Given the description of an element on the screen output the (x, y) to click on. 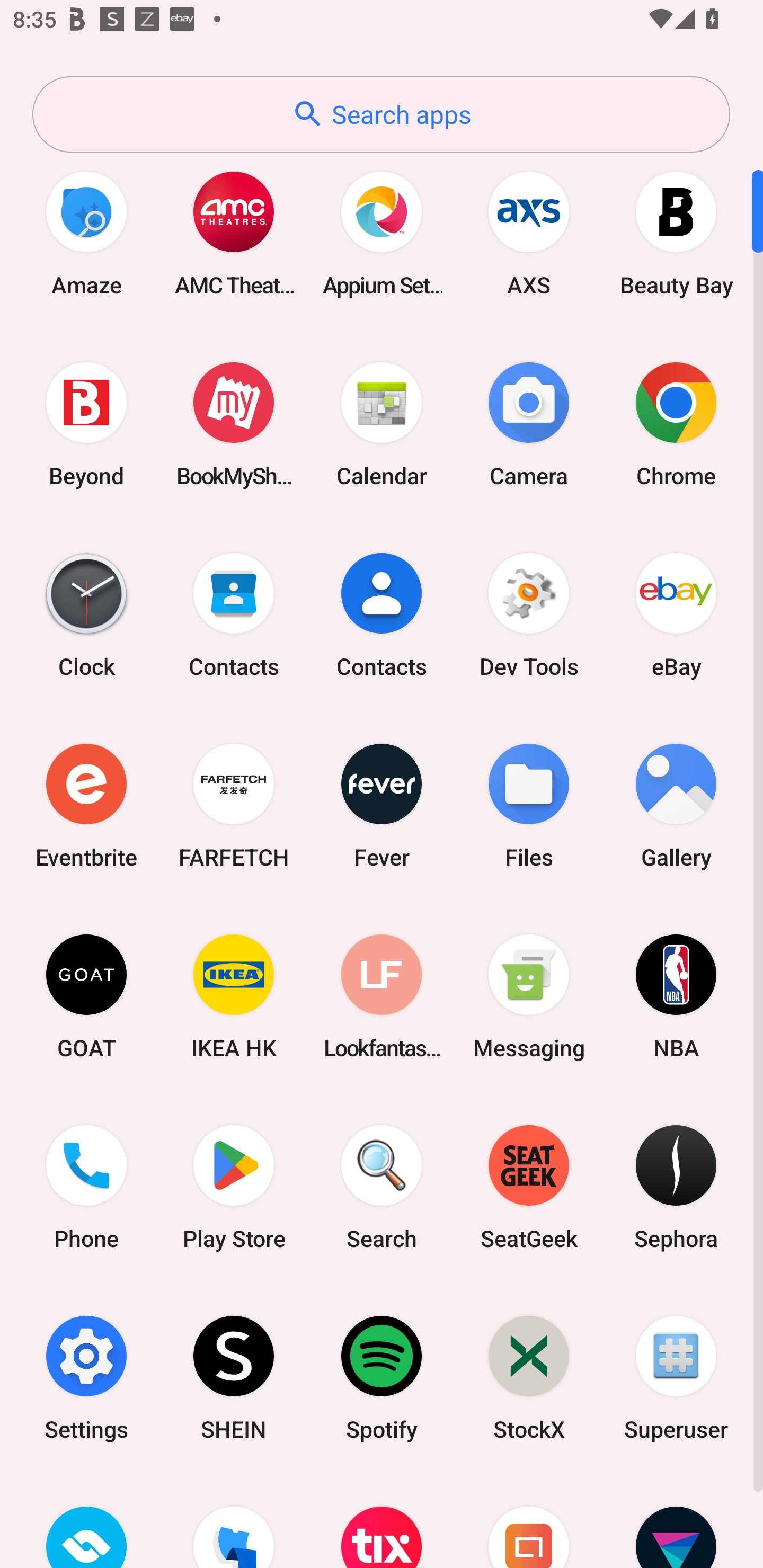
  Search apps (381, 114)
Amaze (86, 233)
AMC Theatres (233, 233)
Appium Settings (381, 233)
AXS (528, 233)
Beauty Bay (676, 233)
Beyond (86, 424)
BookMyShow (233, 424)
Calendar (381, 424)
Camera (528, 424)
Chrome (676, 424)
Clock (86, 614)
Contacts (233, 614)
Contacts (381, 614)
Dev Tools (528, 614)
eBay (676, 614)
Eventbrite (86, 805)
FARFETCH (233, 805)
Fever (381, 805)
Files (528, 805)
Gallery (676, 805)
GOAT (86, 996)
IKEA HK (233, 996)
Lookfantastic (381, 996)
Messaging (528, 996)
NBA (676, 996)
Phone (86, 1186)
Play Store (233, 1186)
Search (381, 1186)
SeatGeek (528, 1186)
Sephora (676, 1186)
Settings (86, 1377)
SHEIN (233, 1377)
Spotify (381, 1377)
StockX (528, 1377)
Superuser (676, 1377)
TicketSwap (86, 1520)
TickPick (233, 1520)
TodayTix (381, 1520)
Urban Ladder (528, 1520)
Vivid Seats (676, 1520)
